Given the description of an element on the screen output the (x, y) to click on. 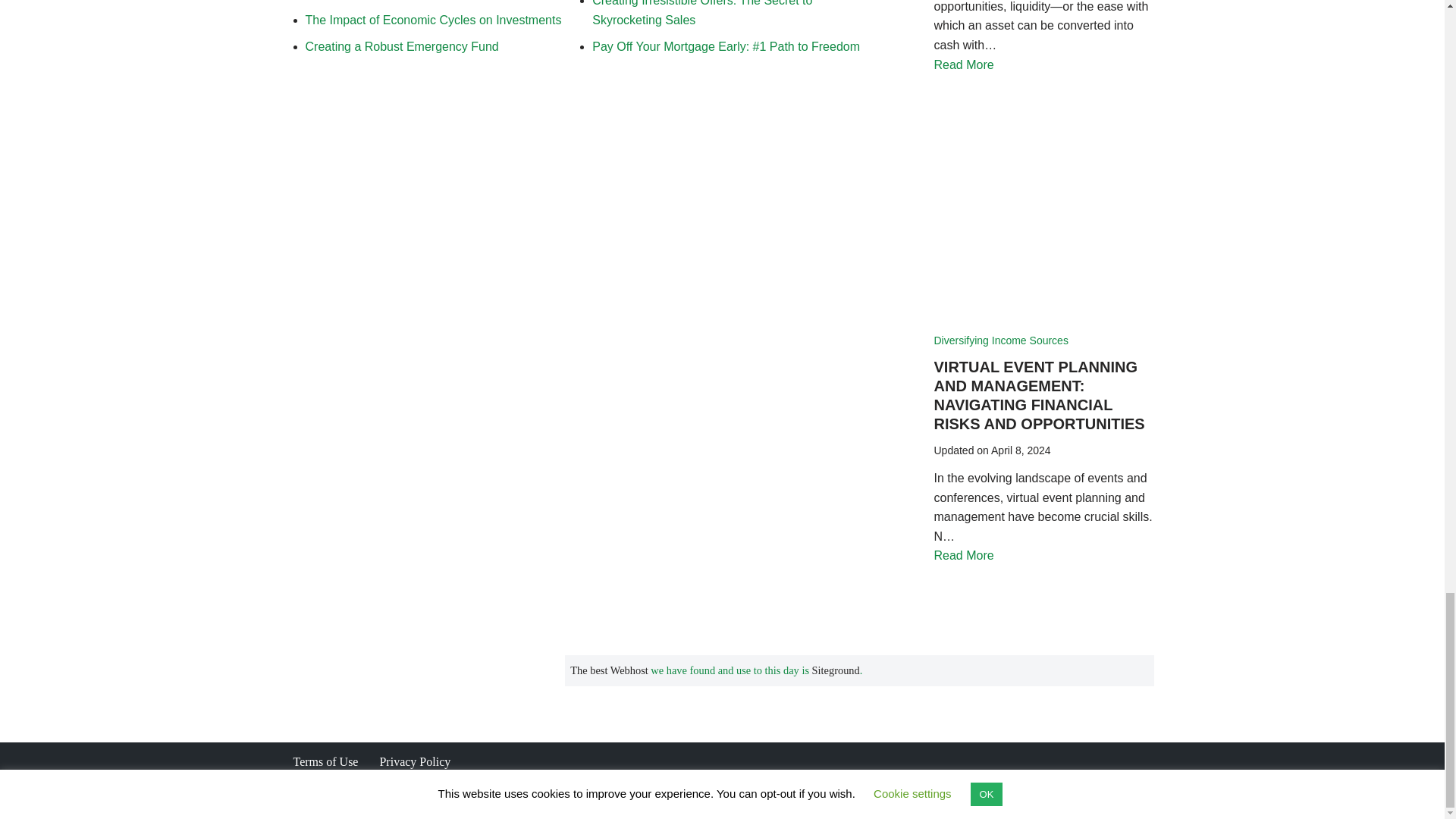
The Impact of Economic Cycles on Investments (432, 19)
Creating a Robust Emergency Fund (400, 46)
